Given the description of an element on the screen output the (x, y) to click on. 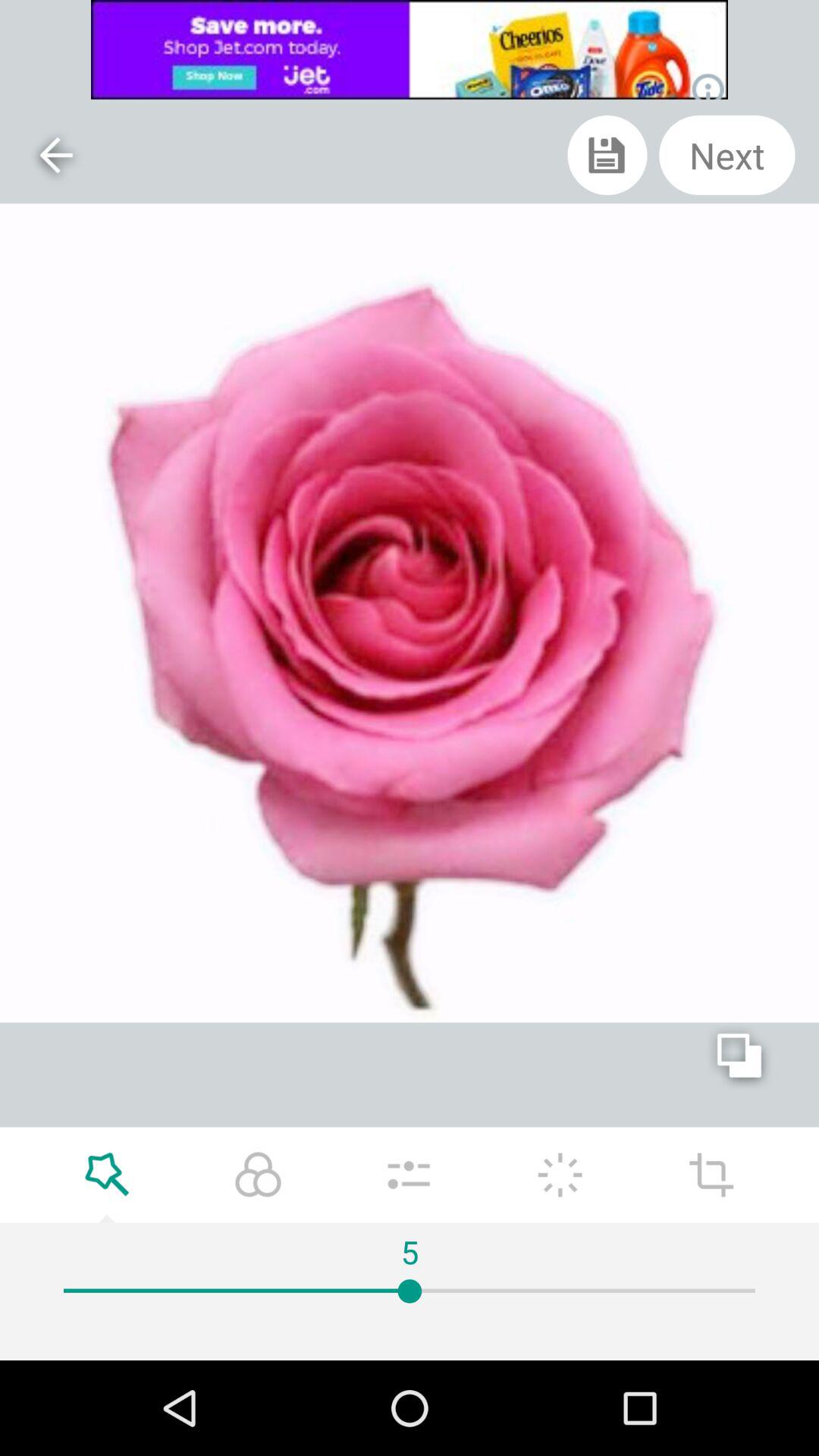
open an advertisements (409, 49)
